Given the description of an element on the screen output the (x, y) to click on. 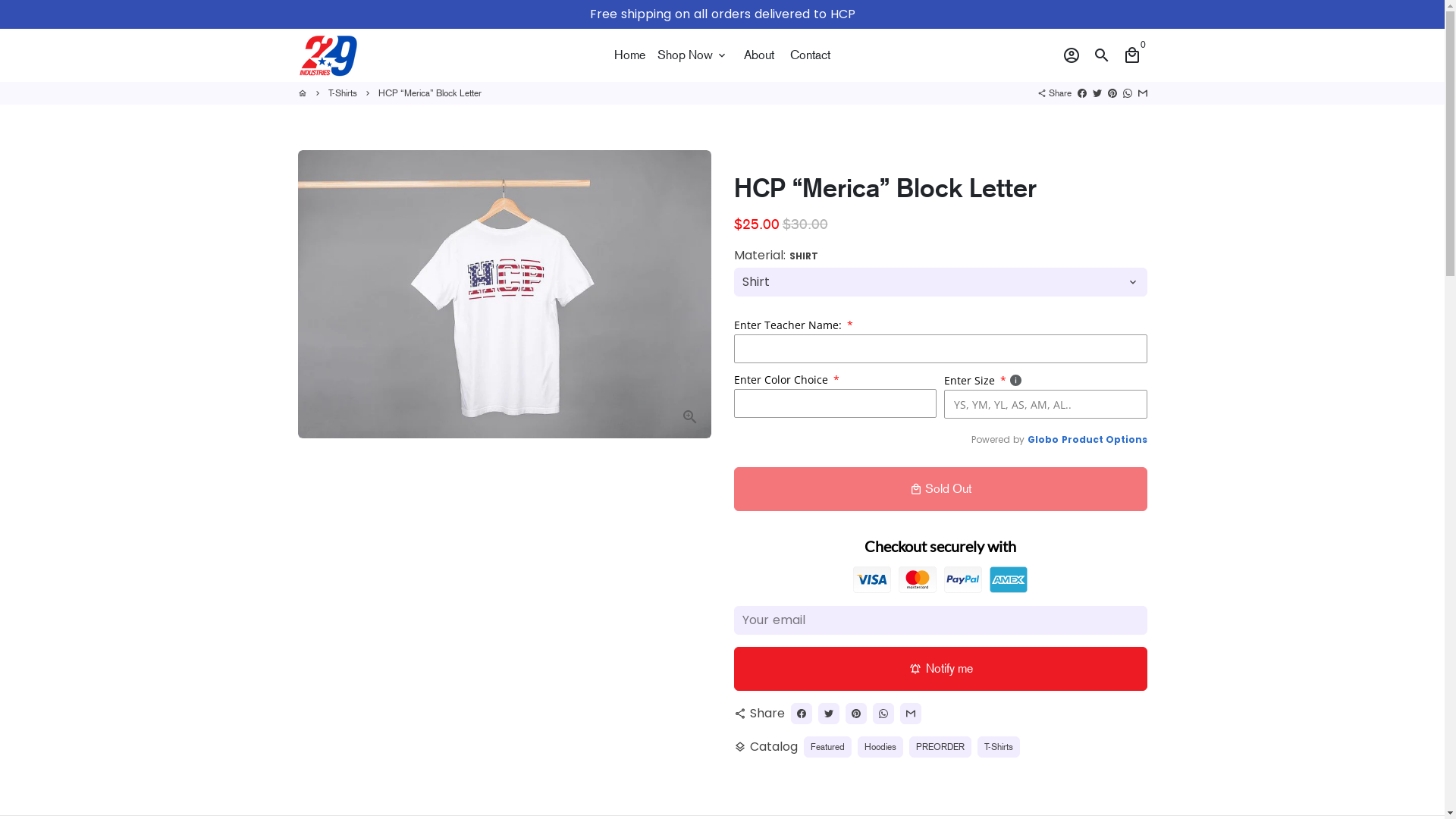
Pin on Pinterest Element type: hover (1111, 92)
Share on Facebook Element type: hover (800, 713)
Share on Whatsapp Element type: hover (882, 713)
account_circle Element type: text (1070, 54)
T-Shirts Element type: text (997, 746)
Share by Email Element type: hover (909, 713)
Skip to content Element type: text (0, 0)
Tweet on Twitter Element type: hover (1096, 92)
About Element type: text (758, 54)
Hoodies Element type: text (879, 746)
Globo Element type: text (1041, 439)
T-Shirts Element type: text (341, 92)
Product Options Element type: text (1104, 439)
Home Element type: text (629, 54)
Pin on Pinterest Element type: hover (855, 713)
local_mall
0 Element type: text (1131, 54)
notifications_active Notify me Element type: text (940, 668)
Shop Now keyboard_arrow_down Element type: text (692, 54)
Share on Facebook Element type: hover (1080, 92)
Tweet on Twitter Element type: hover (827, 713)
Featured Element type: text (827, 746)
PREORDER Element type: text (939, 746)
Share on Whatsapp Element type: hover (1126, 92)
Share by Email Element type: hover (1141, 92)
search Element type: text (1100, 54)
Contact Element type: text (810, 54)
home Element type: text (301, 92)
local_mall Sold Out Element type: text (940, 489)
